Given the description of an element on the screen output the (x, y) to click on. 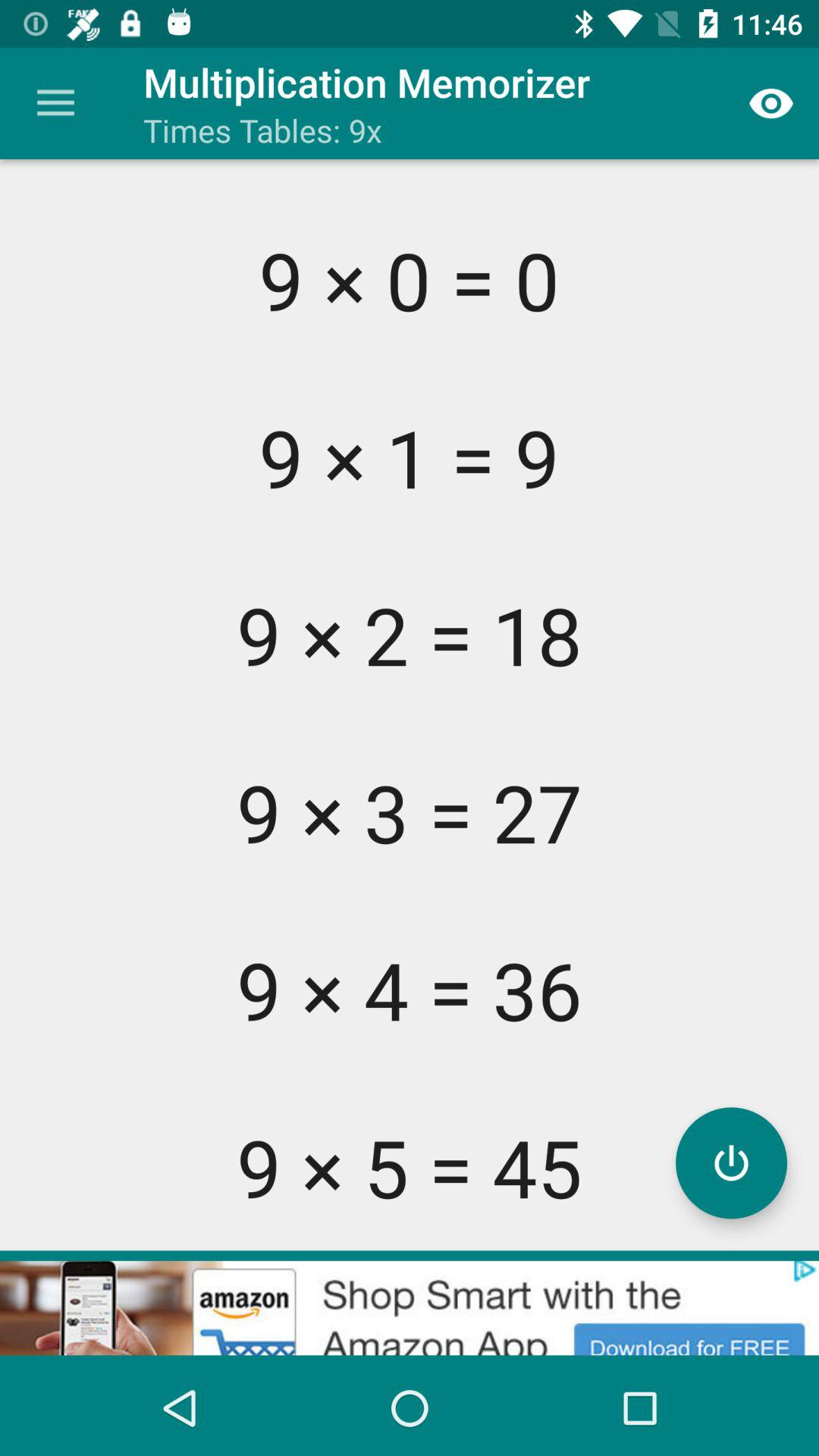
toggle on or off (731, 1162)
